Given the description of an element on the screen output the (x, y) to click on. 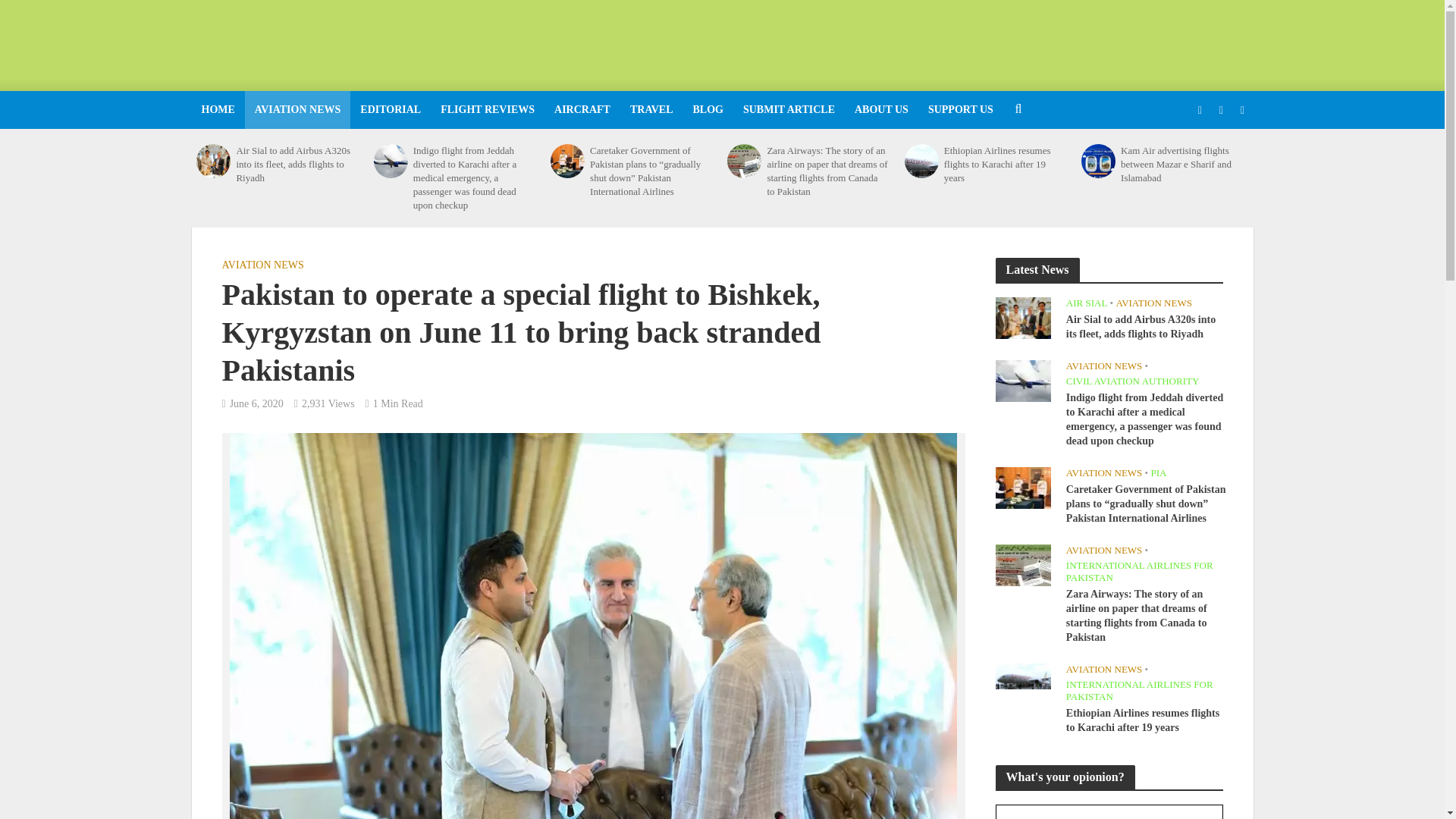
AIRCRAFT (582, 109)
AVIATION NEWS (297, 109)
BLOG (707, 109)
HOME (217, 109)
FLIGHT REVIEWS (487, 109)
ABOUT US (881, 109)
